Given the description of an element on the screen output the (x, y) to click on. 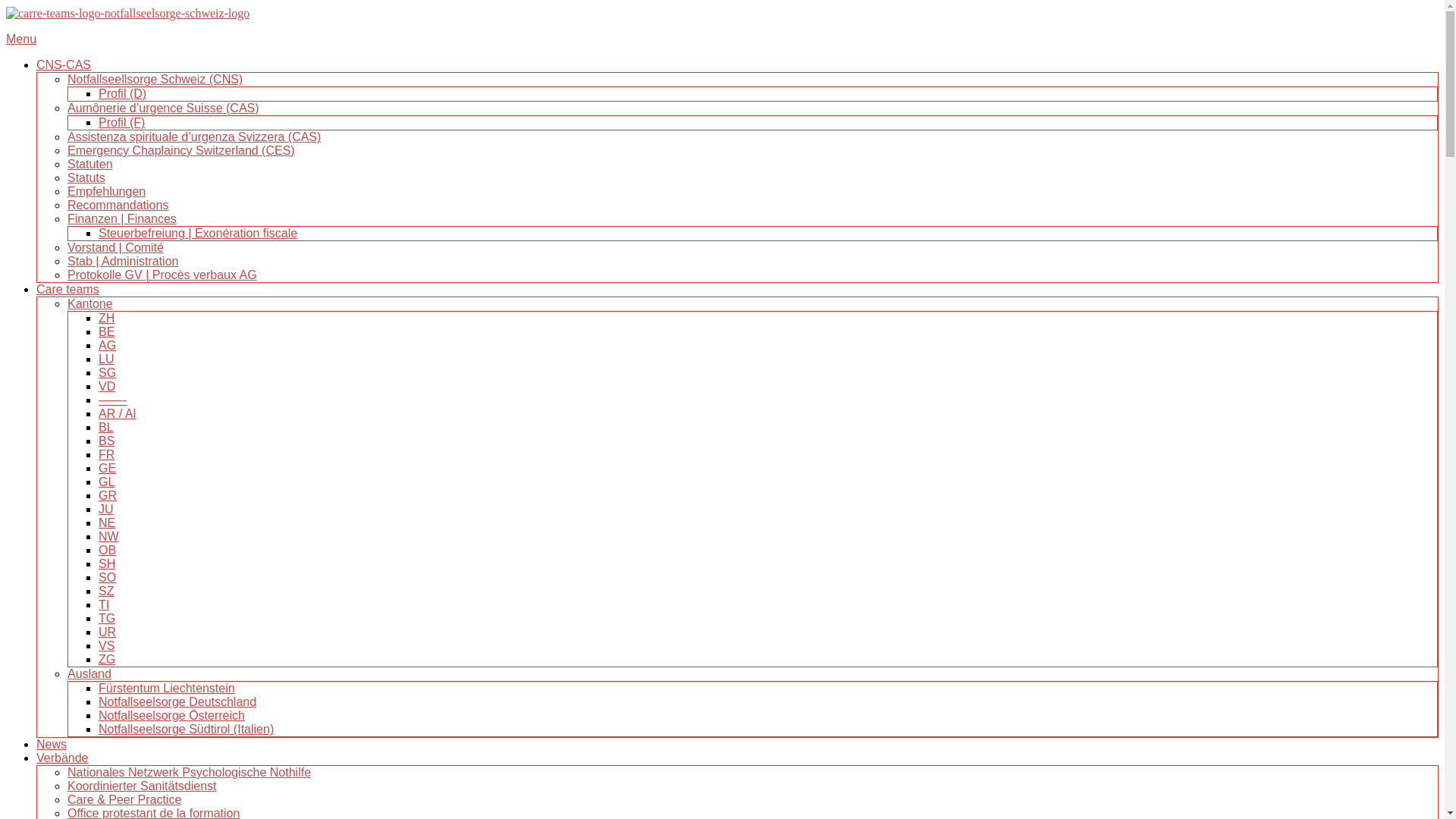
Notfallseelsorge Deutschland Element type: text (177, 701)
ZG Element type: text (106, 658)
SO Element type: text (107, 577)
Care teams Element type: text (67, 288)
Care & Peer Practice Element type: text (124, 799)
Home Element type: text (127, 12)
VD Element type: text (106, 385)
Notfallseellsorge Schweiz (CNS) Element type: text (154, 78)
Statuten Element type: text (89, 163)
SG Element type: text (107, 372)
GL Element type: text (106, 481)
BL Element type: text (105, 426)
NE Element type: text (106, 522)
TI Element type: text (103, 604)
Statuts Element type: text (86, 177)
BS Element type: text (106, 440)
UR Element type: text (107, 631)
Emergency Chaplaincy Switzerland (CES) Element type: text (180, 150)
News Element type: text (51, 743)
LU Element type: text (105, 358)
OB Element type: text (107, 549)
Recommandations Element type: text (117, 204)
SH Element type: text (106, 563)
GE Element type: text (107, 467)
Stab | Administration Element type: text (122, 260)
Skip to content Element type: text (5, 5)
Profil (D) Element type: text (122, 93)
AG Element type: text (107, 344)
Menu
Menu Element type: text (722, 38)
Nationales Netzwerk Psychologische Nothilfe Element type: text (188, 771)
Finanzen | Finances Element type: text (121, 218)
Empfehlungen Element type: text (106, 191)
TG Element type: text (106, 617)
Ausland Element type: text (89, 673)
Profil (F) Element type: text (121, 122)
CNS-CAS Element type: text (63, 64)
FR Element type: text (106, 454)
BE Element type: text (106, 331)
SZ Element type: text (105, 590)
NW Element type: text (108, 536)
JU Element type: text (105, 508)
ZH Element type: text (106, 317)
Kantone Element type: text (89, 303)
AR / AI Element type: text (117, 413)
VS Element type: text (106, 645)
GR Element type: text (107, 495)
